Given the description of an element on the screen output the (x, y) to click on. 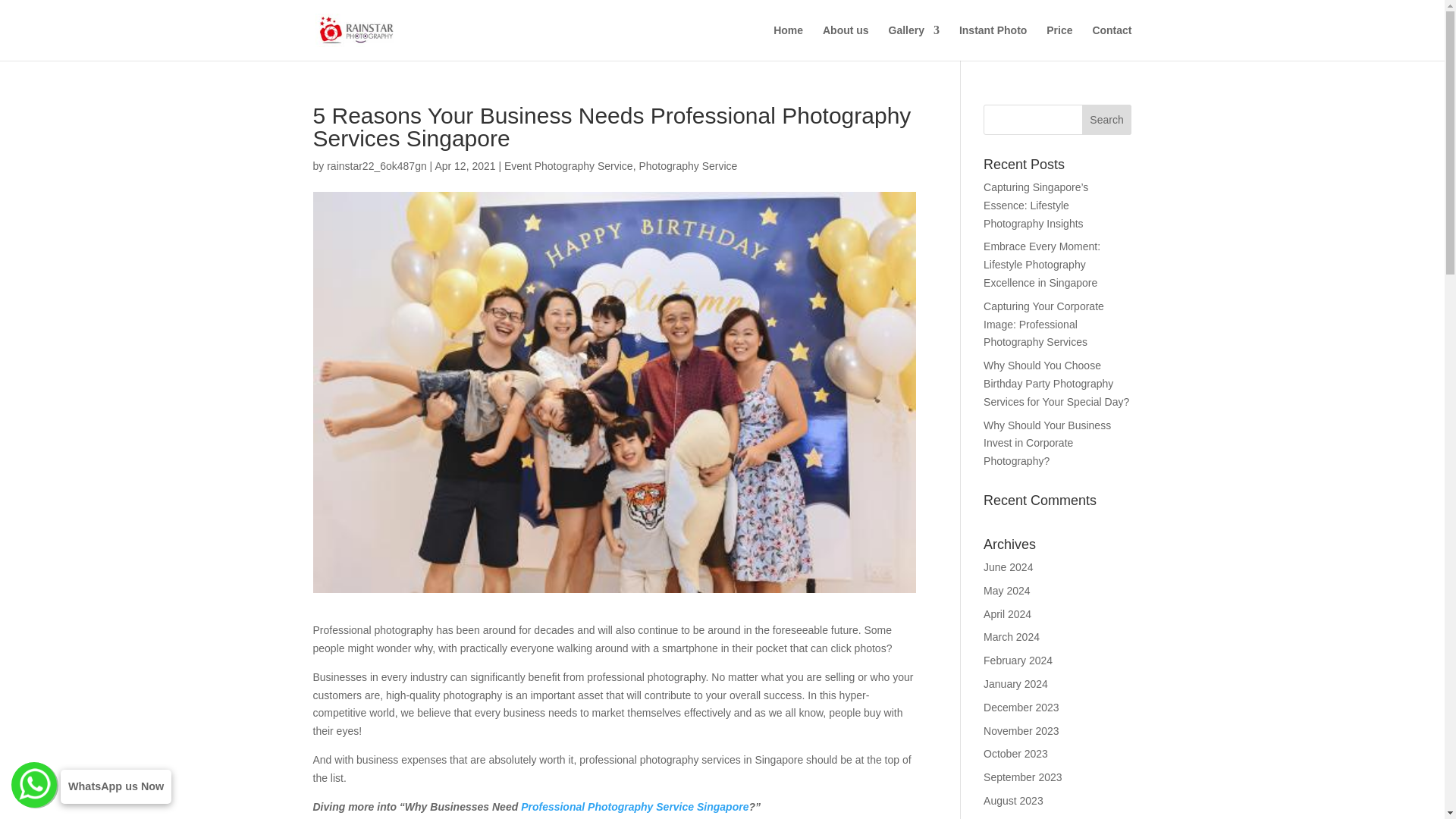
June 2024 (1008, 567)
About us (845, 42)
Gallery (913, 42)
September 2023 (1023, 776)
Search (1106, 119)
Instant Photo (992, 42)
Why Should Your Business Invest in Corporate Photography? (1047, 443)
Search (1106, 119)
March 2024 (1011, 636)
August 2023 (1013, 800)
